Given the description of an element on the screen output the (x, y) to click on. 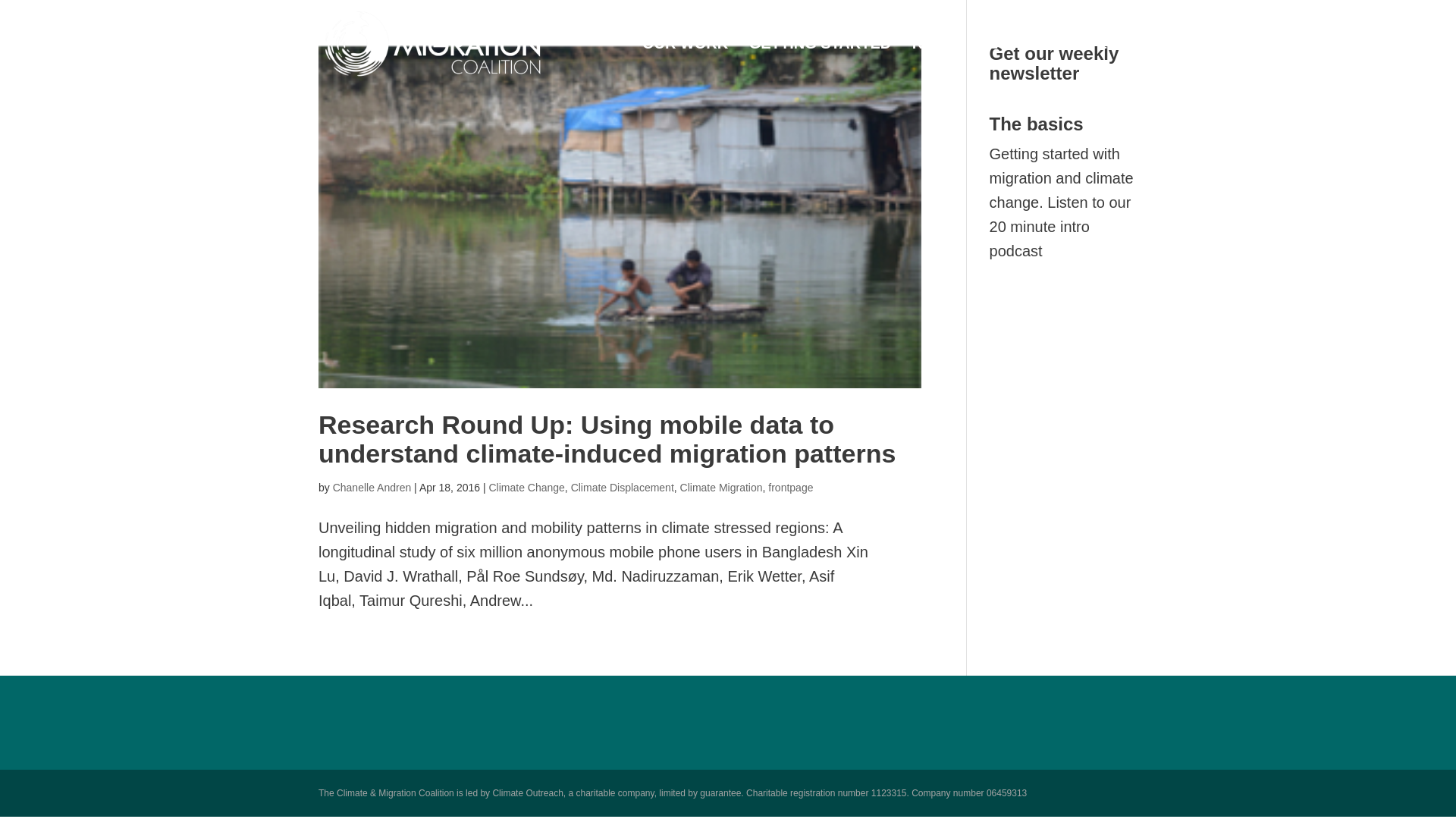
OUR WORK (685, 61)
Climate Migration (720, 487)
frontpage (790, 487)
RESOURCES (967, 61)
Posts by Chanelle Andren (372, 487)
Chanelle Andren (372, 487)
Climate Displacement (622, 487)
Climate Change (525, 487)
DONATE (1074, 61)
GETTING STARTED (820, 61)
